Given the description of an element on the screen output the (x, y) to click on. 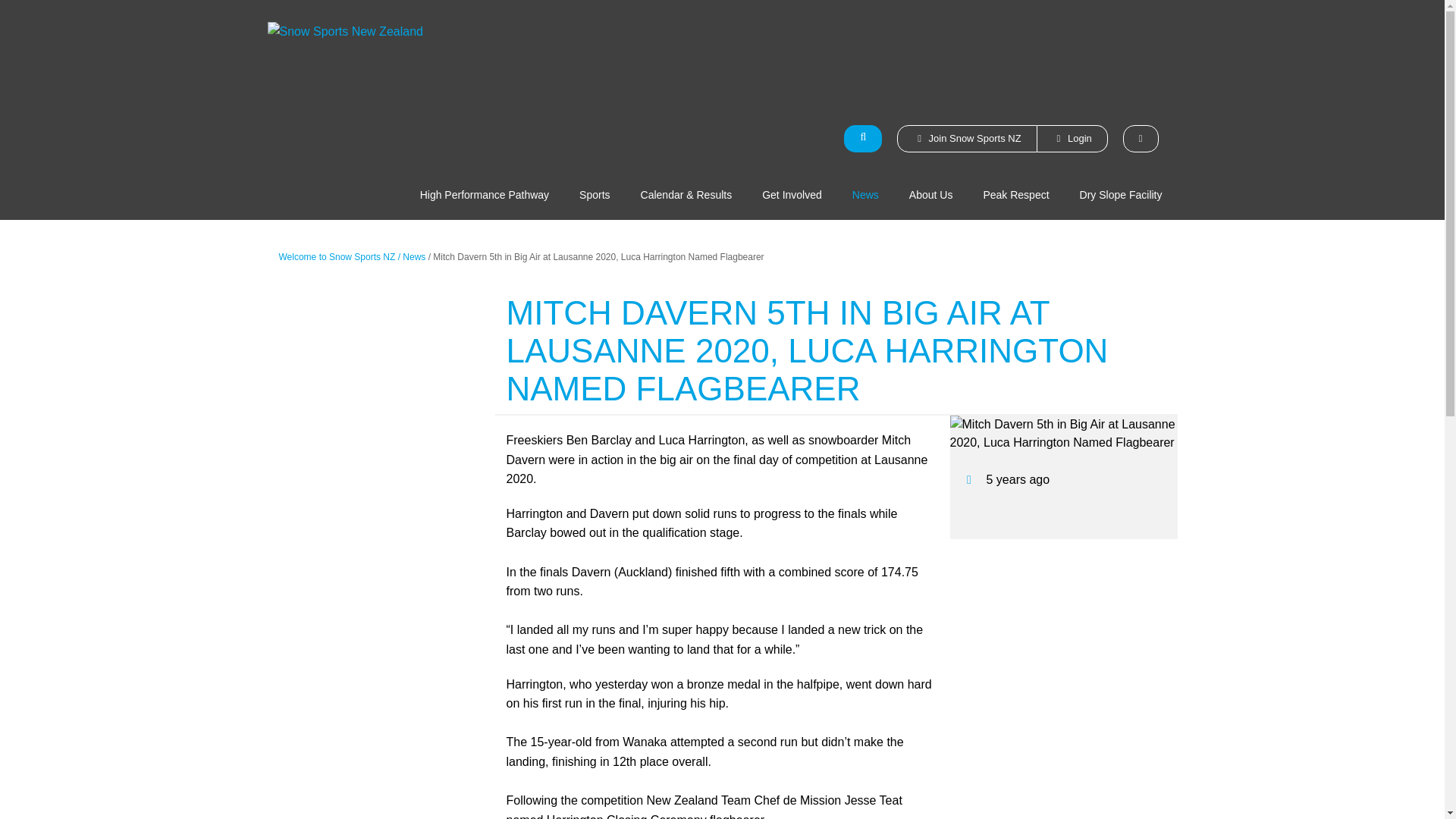
Join Snow Sports NZ (966, 138)
Sports (594, 194)
Login (1072, 138)
High Performance Pathway (484, 194)
